Given the description of an element on the screen output the (x, y) to click on. 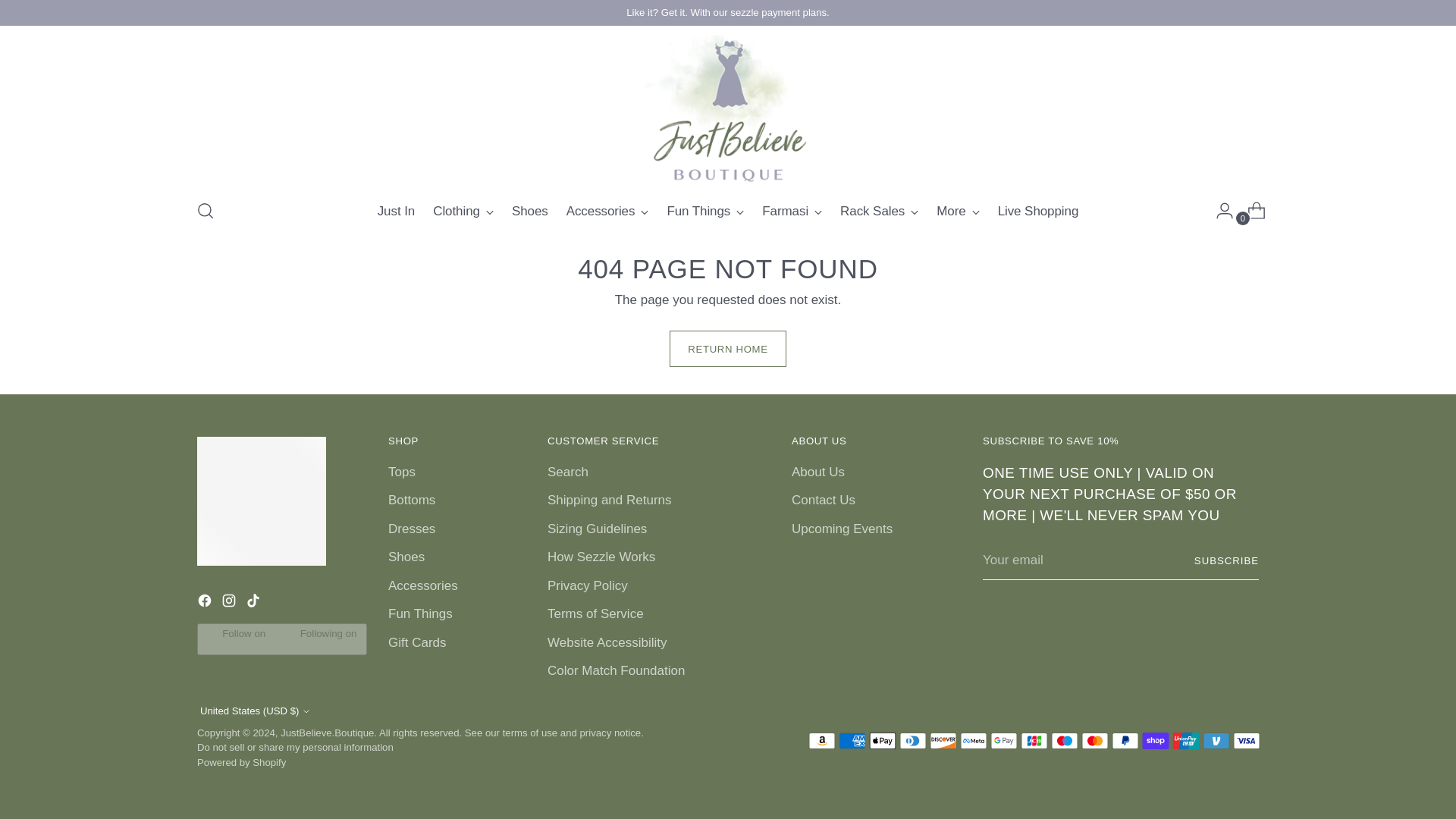
Do not sell or share my personal information (294, 747)
Like it? Get it. With our sezzle payment plans. (727, 12)
Just In (395, 210)
Clothing (462, 210)
